Given the description of an element on the screen output the (x, y) to click on. 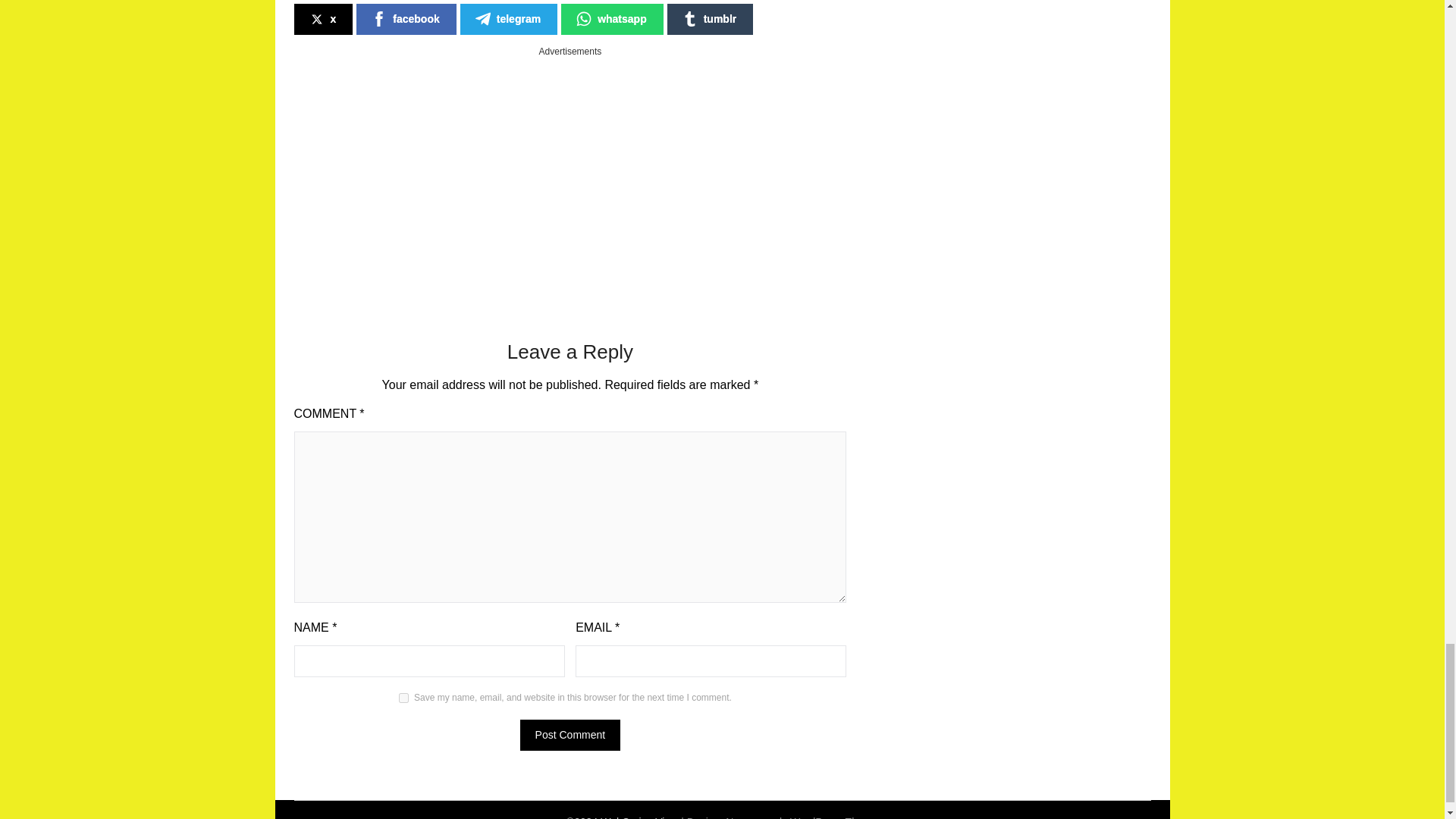
Post Comment (570, 735)
facebook (405, 19)
whatsapp (611, 19)
Post Comment (570, 735)
telegram (508, 19)
yes (403, 697)
x (323, 19)
tumblr (710, 19)
